Given the description of an element on the screen output the (x, y) to click on. 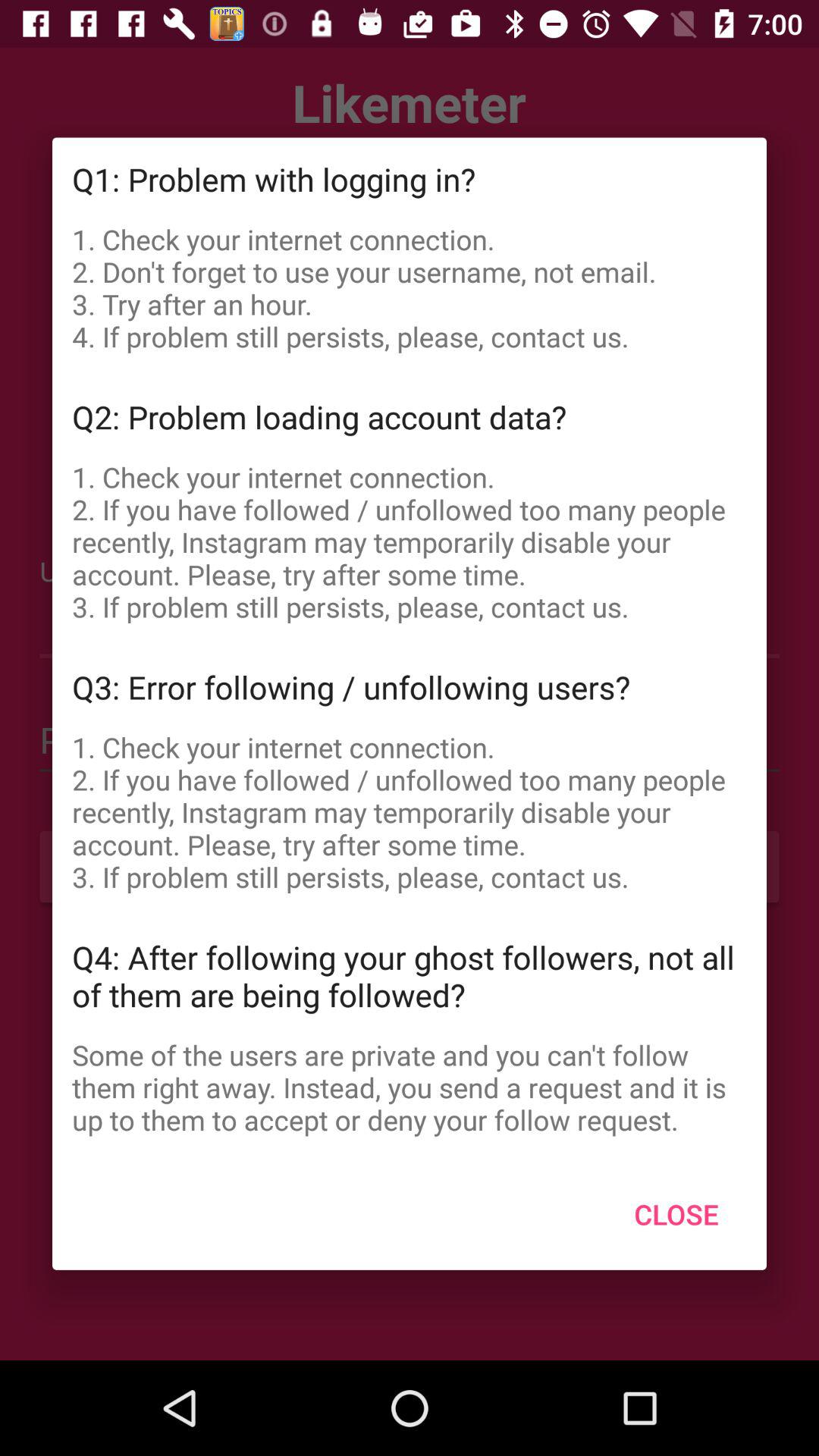
turn on the icon below some of the (676, 1214)
